Given the description of an element on the screen output the (x, y) to click on. 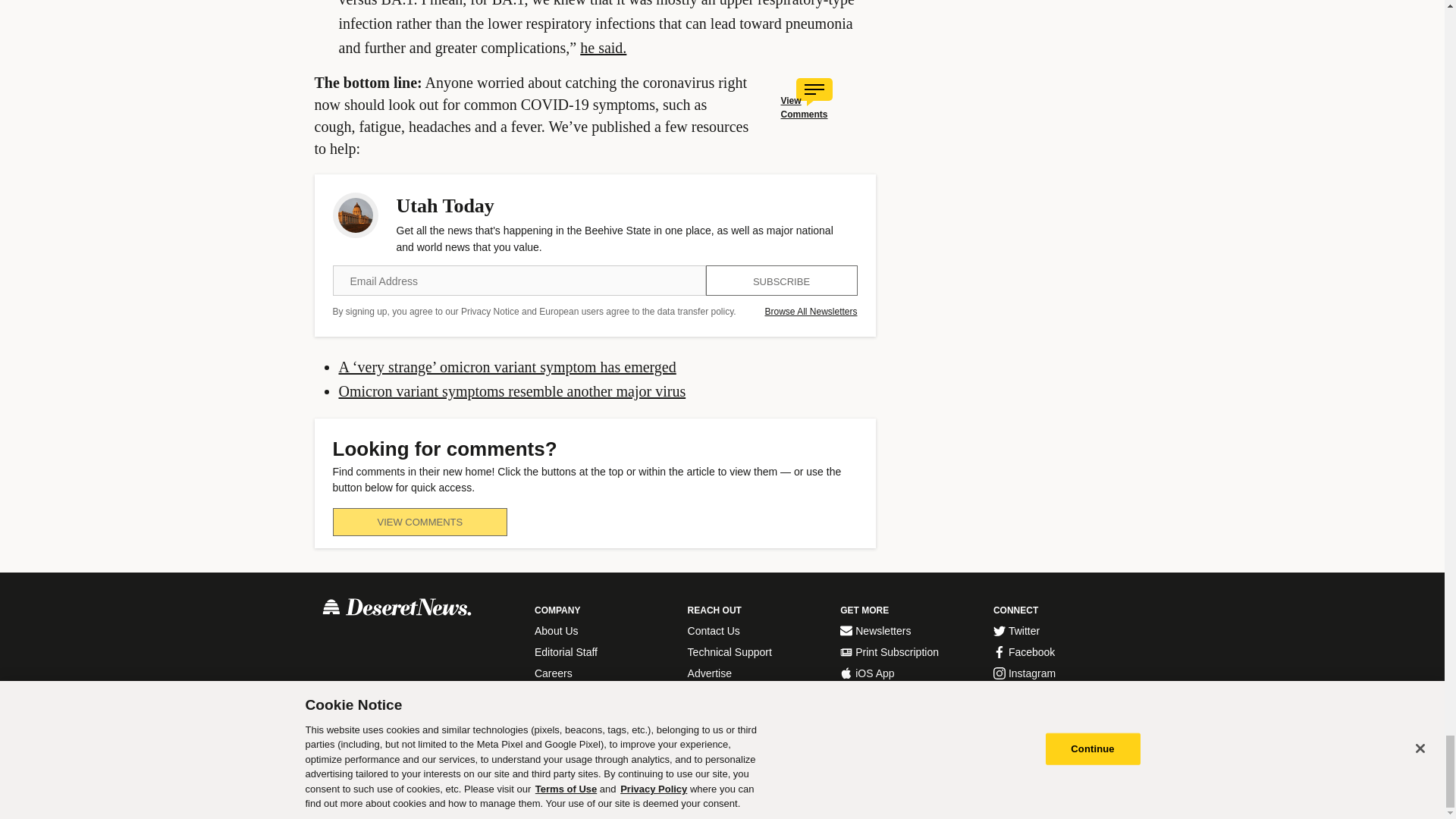
he said. (602, 47)
